Given the description of an element on the screen output the (x, y) to click on. 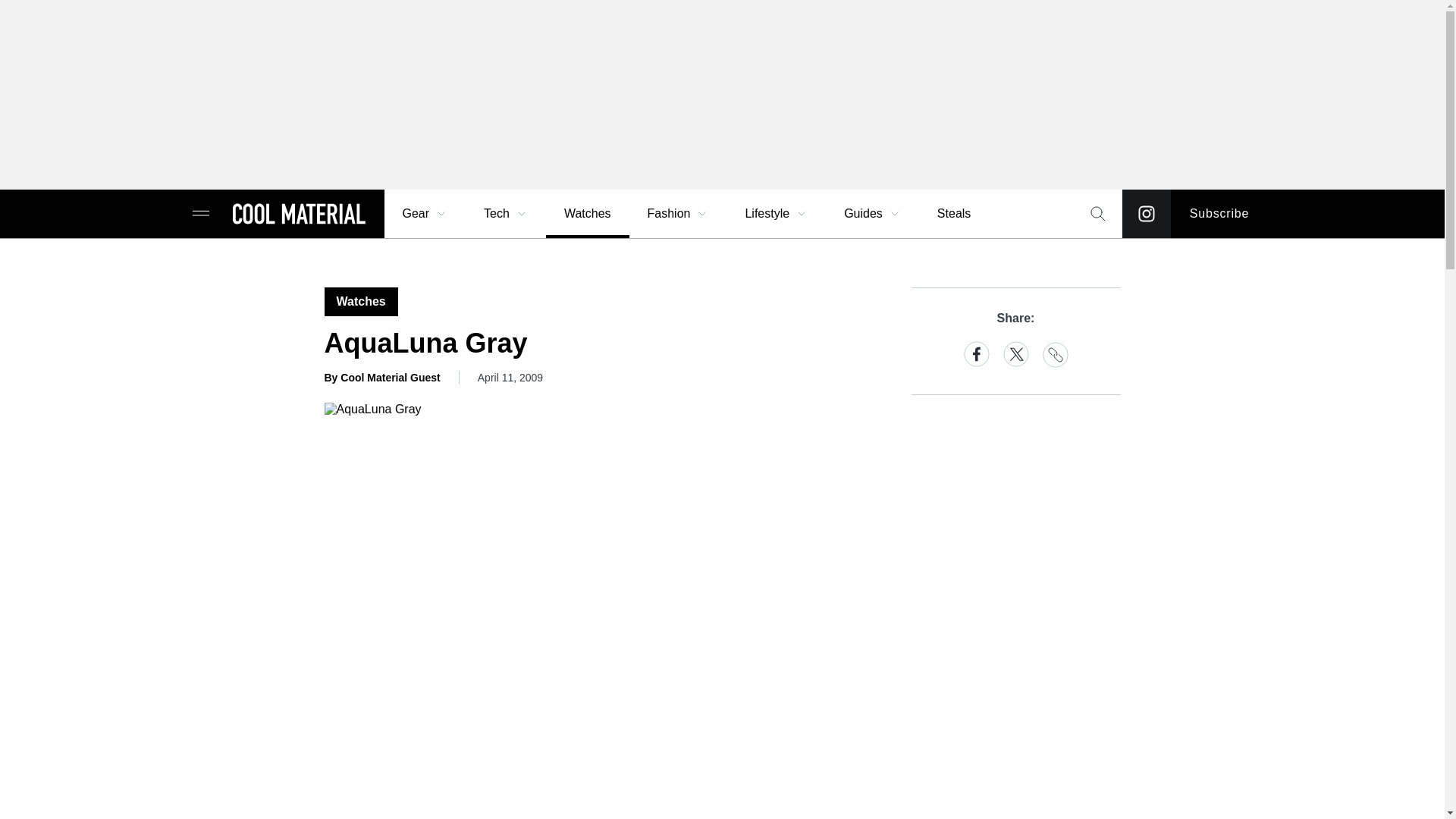
Fashion (677, 213)
Tech (505, 213)
Guides (871, 213)
Lifestyle (775, 213)
Watches (587, 213)
Gear (424, 213)
